Given the description of an element on the screen output the (x, y) to click on. 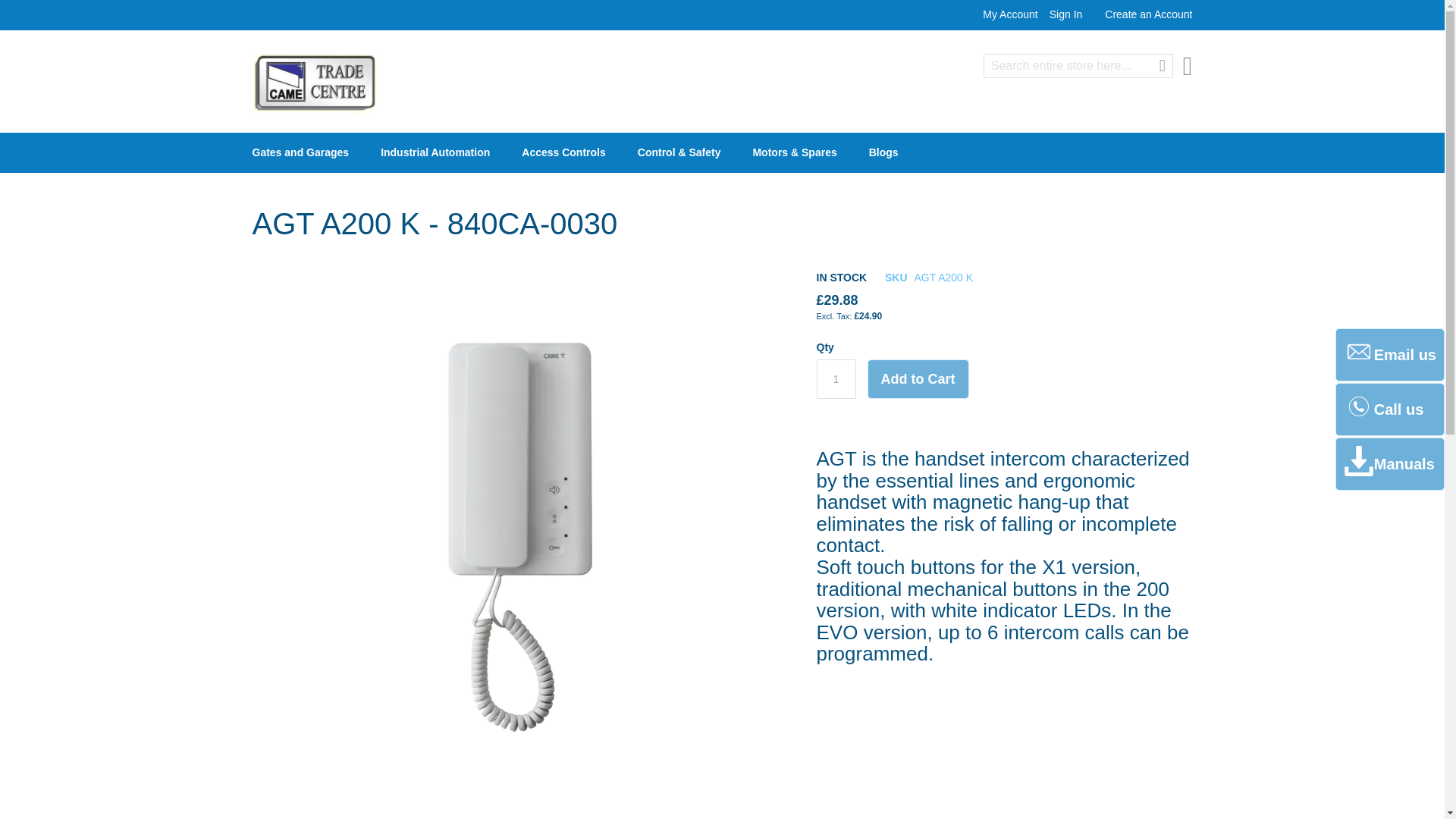
Sign In (1066, 14)
Qty (835, 378)
Availability (840, 278)
CTC Logo (315, 83)
My Account (1009, 14)
Create an Account (1148, 14)
Gates and Garages (303, 152)
Advanced Search (1025, 88)
Add to Cart (918, 378)
1 (835, 378)
Access Controls (566, 152)
Industrial Automation (438, 152)
